Given the description of an element on the screen output the (x, y) to click on. 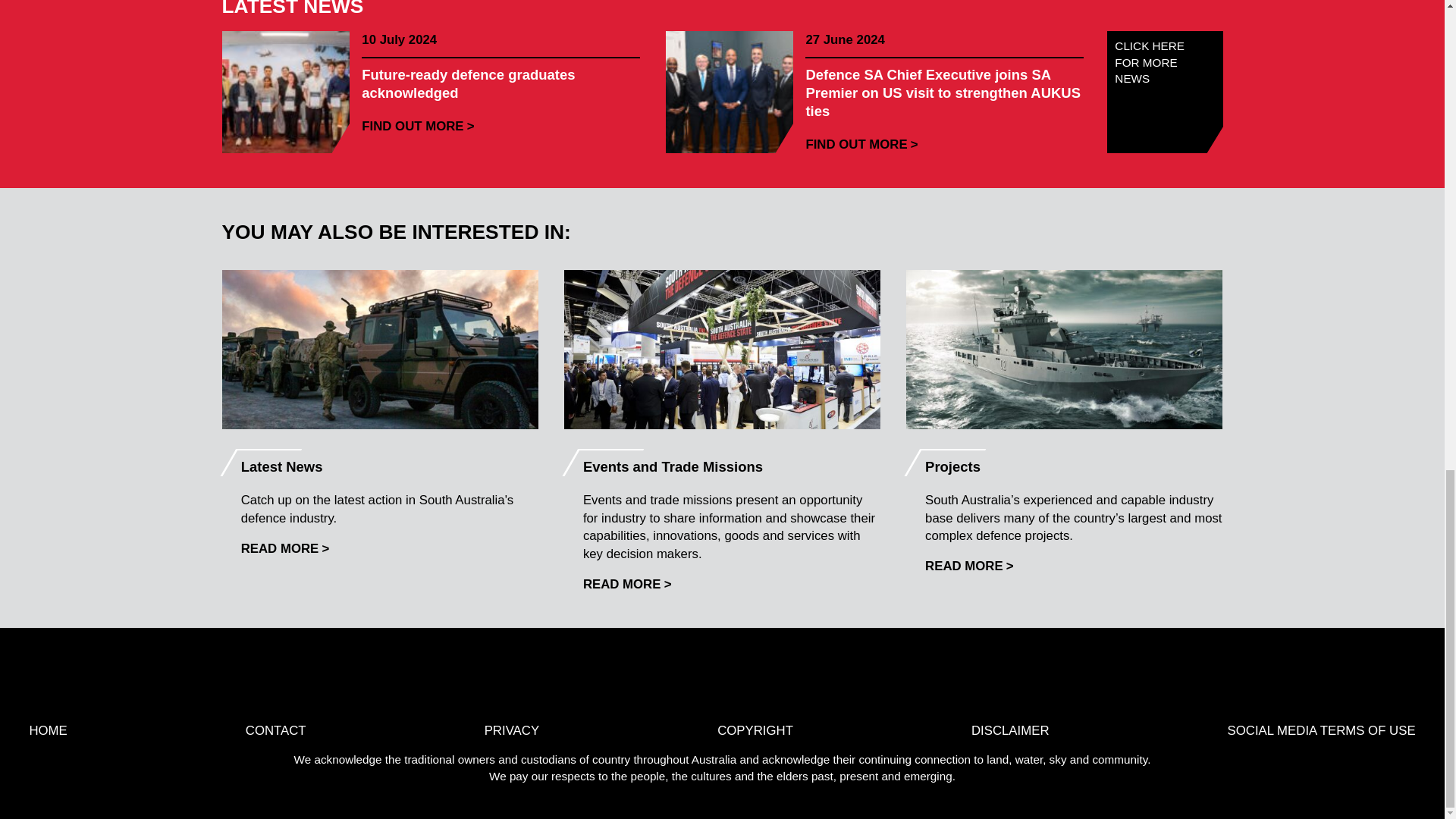
sa.gov.au Logo (892, 680)
View: Projects (968, 565)
Defence SA Footer Logo (778, 680)
View: Latest News (285, 548)
Government of South Australia Logo (664, 680)
View: Events and Trade Missions (627, 584)
South Australia White Logo (550, 680)
